Given the description of an element on the screen output the (x, y) to click on. 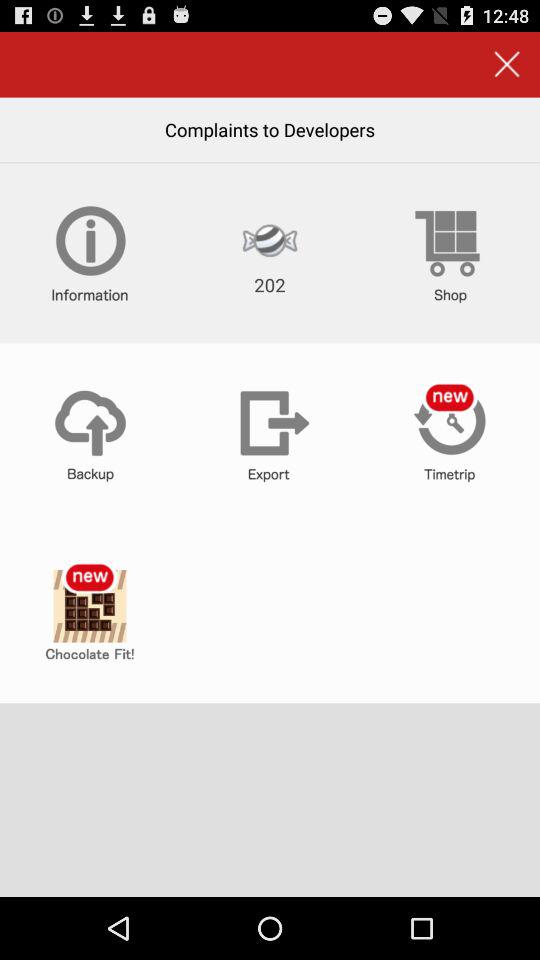
export document (270, 433)
